Given the description of an element on the screen output the (x, y) to click on. 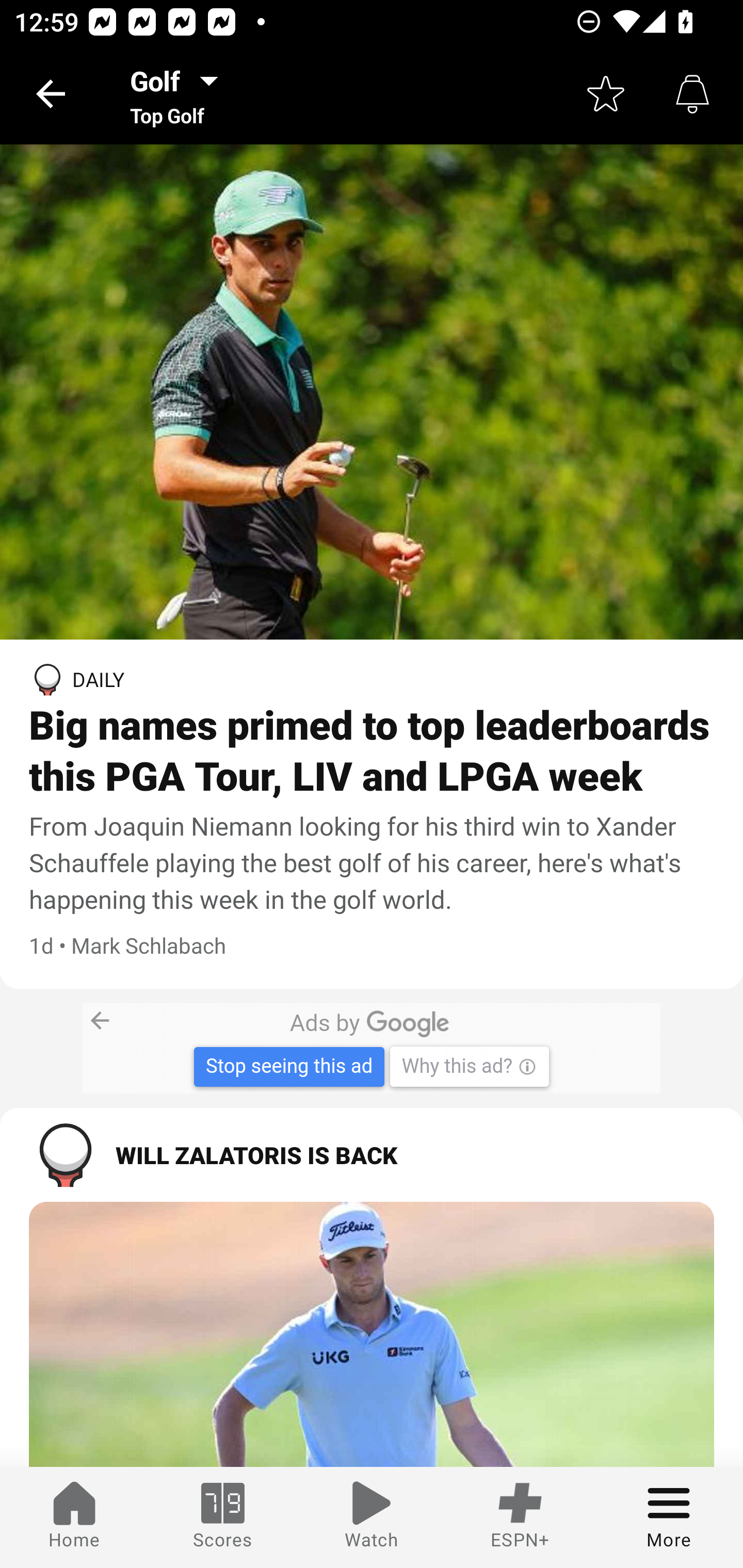
Golf Top Golf (180, 93)
Favorite toggle (605, 93)
Alerts (692, 93)
WILL ZALATORIS IS BACK (371, 1154)
Home (74, 1517)
Scores (222, 1517)
Watch (371, 1517)
ESPN+ (519, 1517)
